Given the description of an element on the screen output the (x, y) to click on. 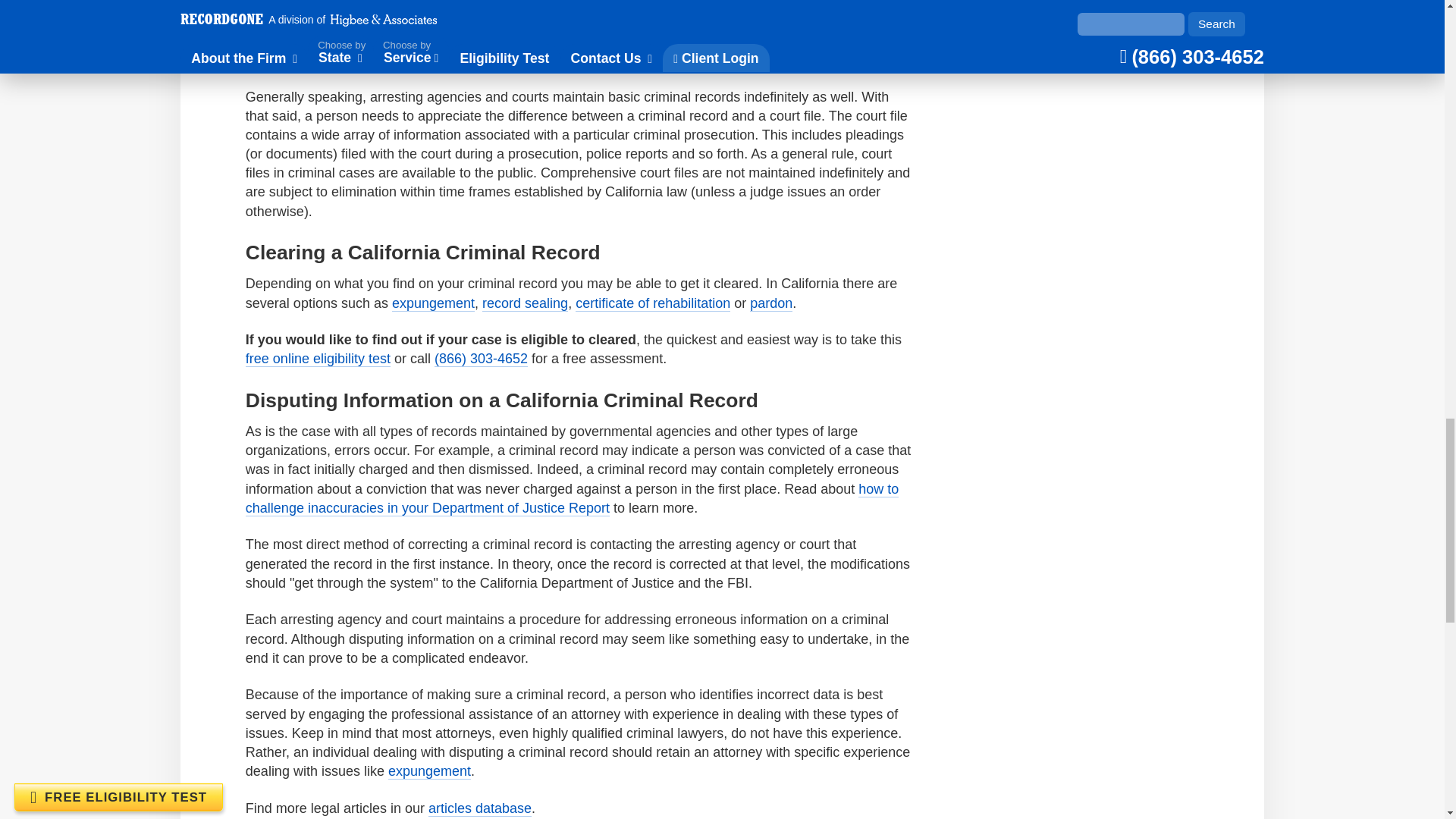
California record sealing (524, 303)
California cepardon (770, 303)
California expungements (432, 303)
free eligibility test (318, 358)
California certificate of rehabilitation (652, 303)
